Given the description of an element on the screen output the (x, y) to click on. 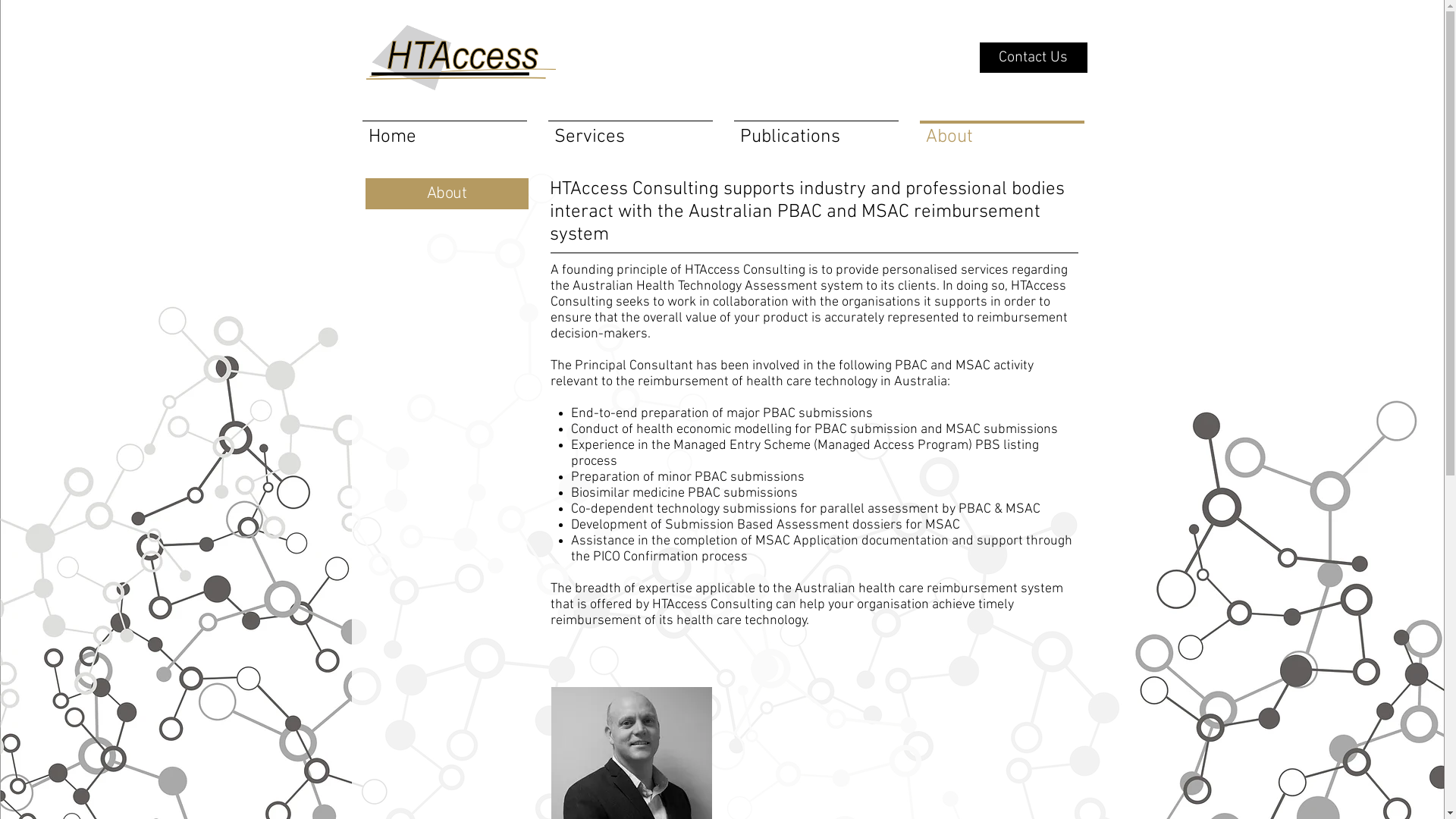
Publications Element type: text (816, 130)
Home Element type: text (444, 130)
Contact Us Element type: text (1033, 57)
About Element type: text (1001, 130)
Services Element type: text (629, 130)
